Given the description of an element on the screen output the (x, y) to click on. 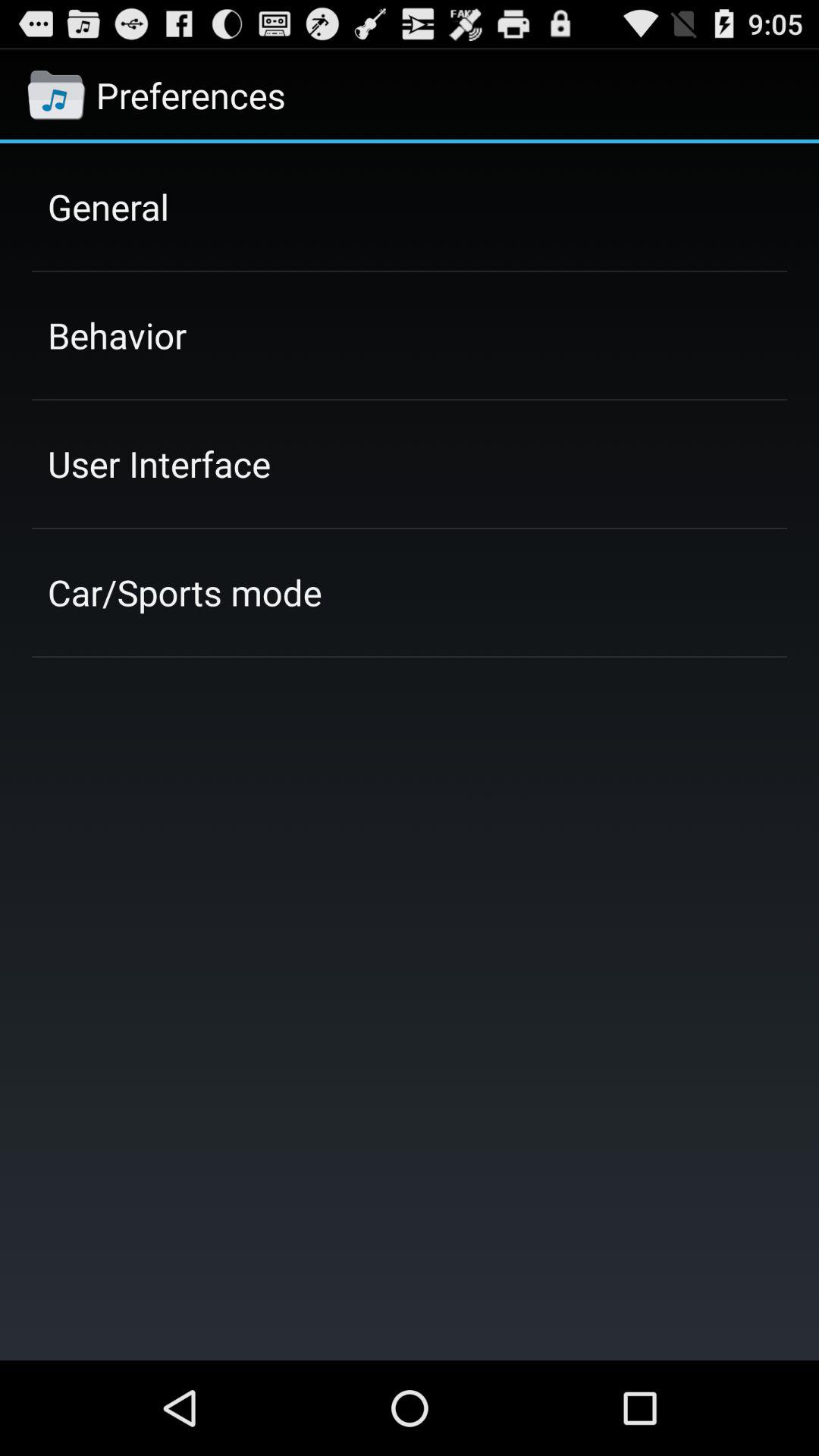
turn on car/sports mode icon (184, 592)
